Given the description of an element on the screen output the (x, y) to click on. 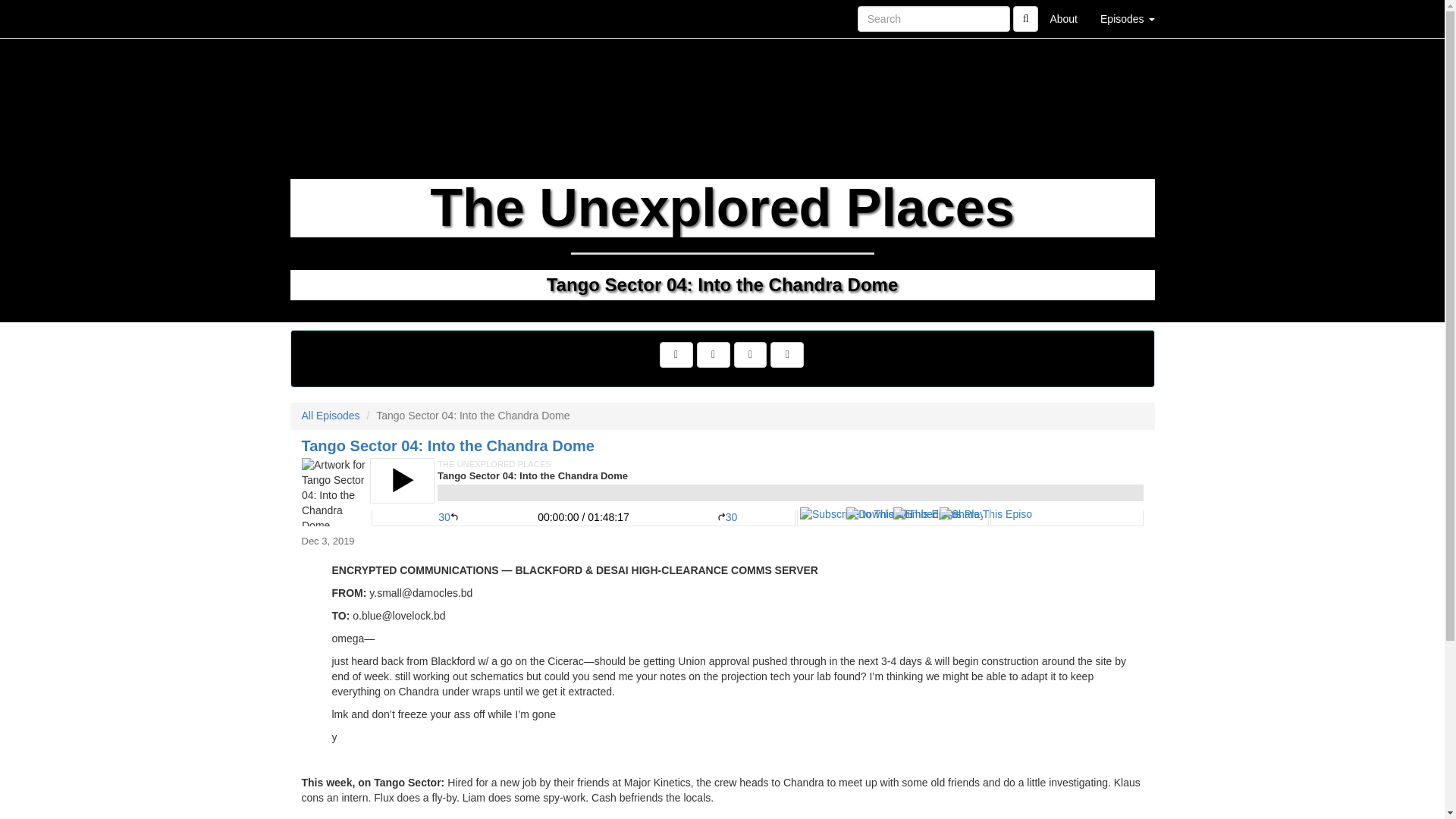
About (1063, 18)
Tango Sector 04: Into the Chandra Dome (721, 491)
Home Page (320, 18)
Episodes (1127, 18)
